Given the description of an element on the screen output the (x, y) to click on. 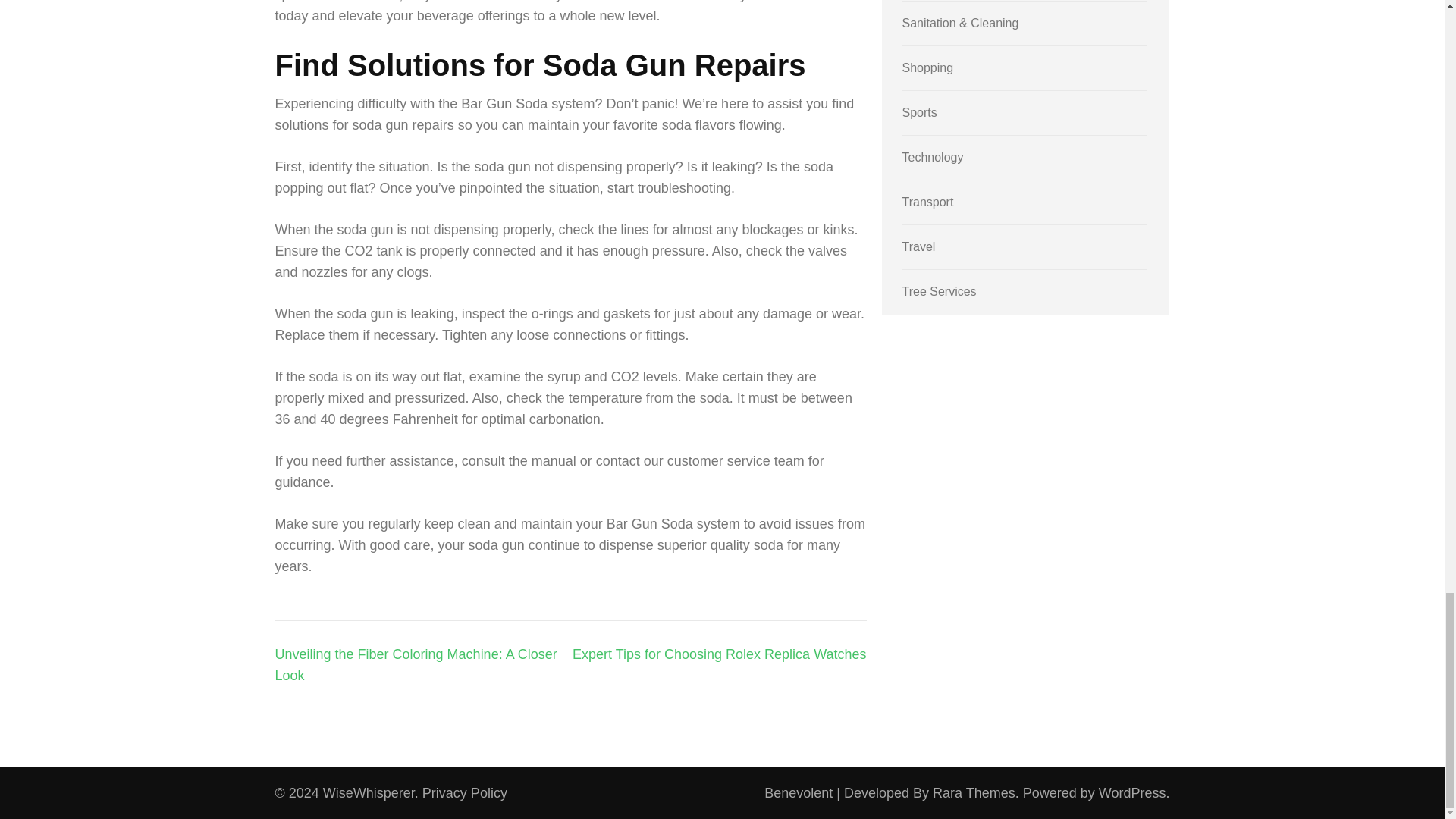
Expert Tips for Choosing Rolex Replica Watches (719, 654)
Unveiling the Fiber Coloring Machine: A Closer Look (415, 665)
